Given the description of an element on the screen output the (x, y) to click on. 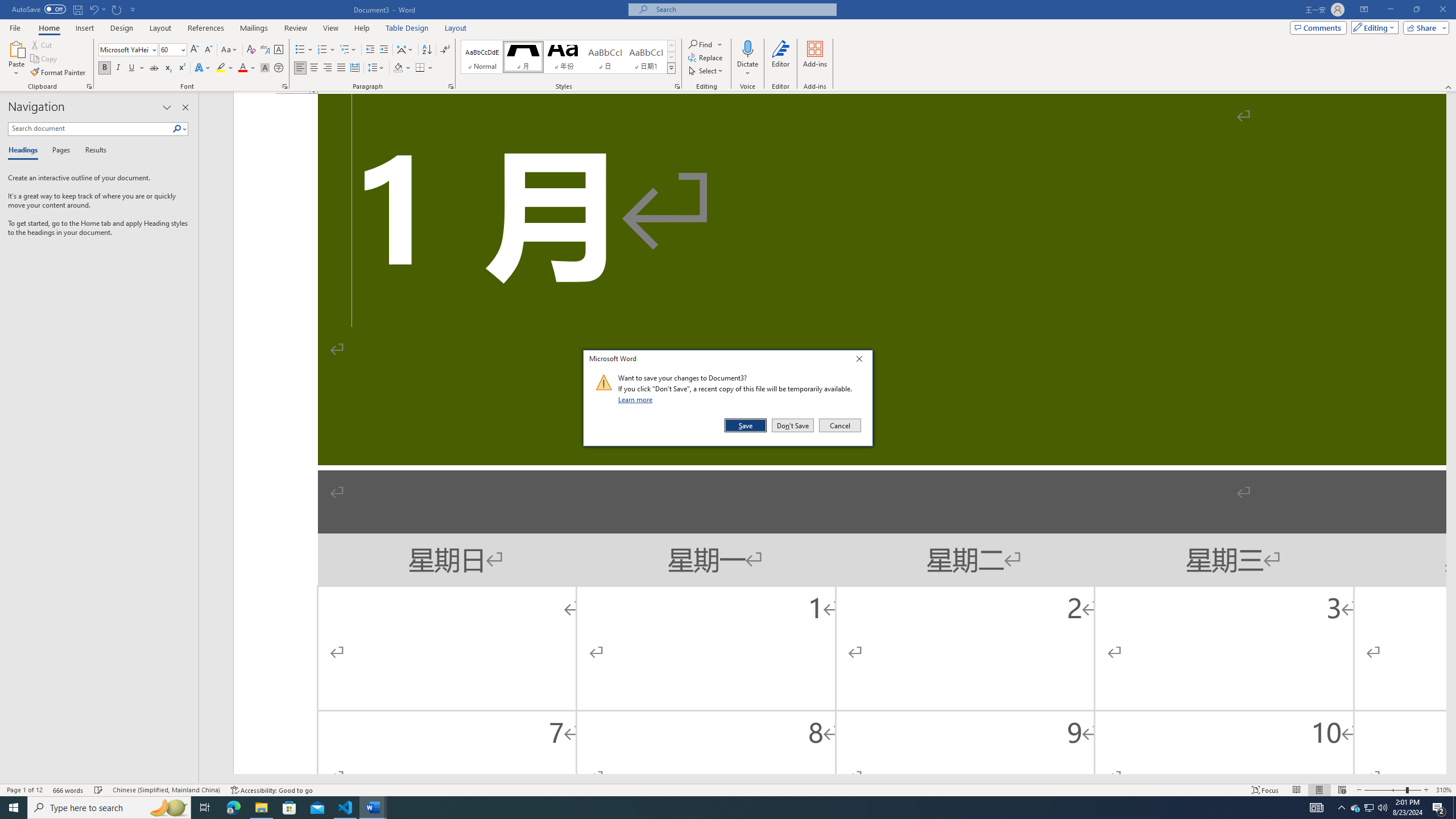
Grow Font (193, 49)
Word - 2 running windows (373, 807)
Visual Studio Code - 1 running window (345, 807)
Increase Indent (383, 49)
Type here to search (108, 807)
Action Center, 2 new notifications (1439, 807)
Don't Save (792, 425)
File Explorer - 1 running window (261, 807)
AutomationID: QuickStylesGallery (568, 56)
